Given the description of an element on the screen output the (x, y) to click on. 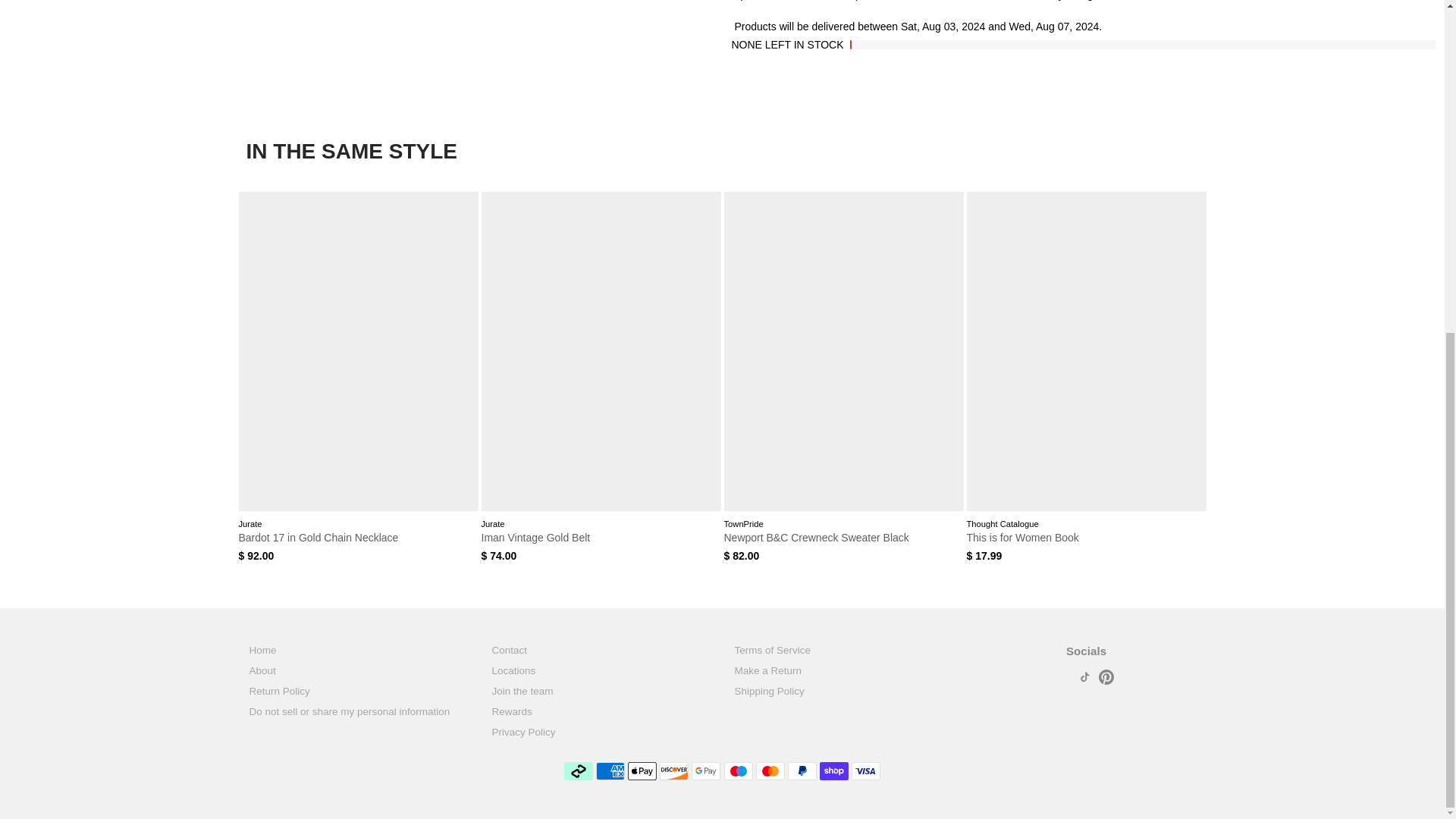
Shop Pay (833, 771)
American Express (609, 771)
Visa (865, 771)
PayPal (801, 771)
Google Pay (705, 771)
Mastercard (769, 771)
Afterpay (578, 771)
Discover (673, 771)
Maestro (737, 771)
Apple Pay (641, 771)
